Given the description of an element on the screen output the (x, y) to click on. 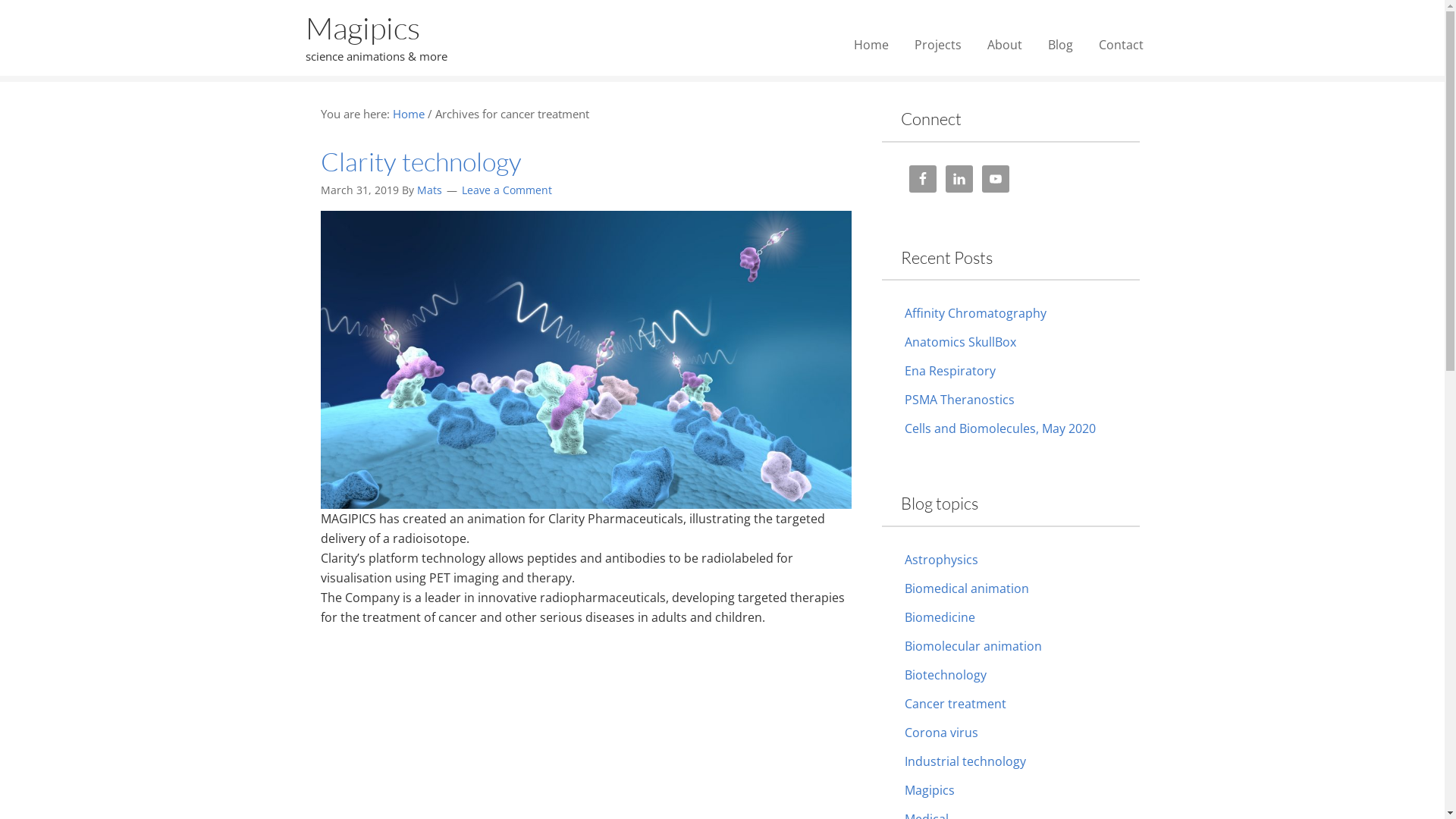
Home Element type: text (870, 44)
Industrial technology Element type: text (964, 760)
Ena Respiratory Element type: text (948, 370)
Biotechnology Element type: text (944, 673)
Home Element type: text (408, 113)
Magipics Element type: text (928, 789)
Biomolecular animation Element type: text (972, 645)
Biomedicine Element type: text (938, 616)
Cancer treatment Element type: text (954, 702)
Mats Element type: text (429, 189)
Contact Element type: text (1120, 44)
Projects Element type: text (937, 44)
Corona virus Element type: text (940, 731)
PSMA Theranostics Element type: text (958, 399)
Biomedical animation Element type: text (965, 587)
Leave a Comment Element type: text (506, 189)
Clarity technology Element type: text (420, 161)
Blog Element type: text (1059, 44)
Magipics Element type: text (361, 27)
About Element type: text (1003, 44)
Affinity Chromatography Element type: text (974, 312)
Anatomics SkullBox Element type: text (959, 341)
Cells and Biomolecules, May 2020 Element type: text (999, 428)
Astrophysics Element type: text (940, 558)
